Given the description of an element on the screen output the (x, y) to click on. 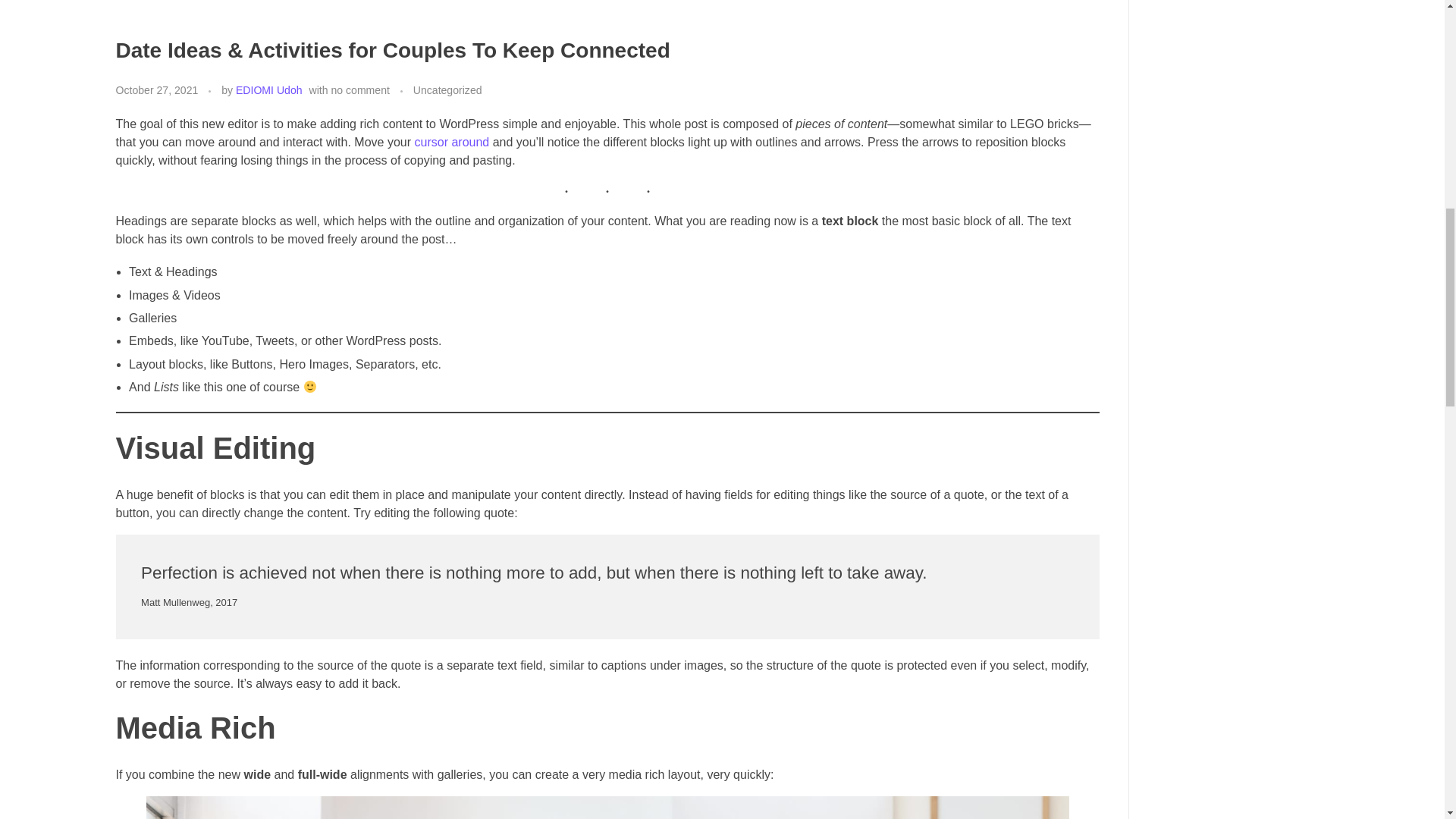
View all posts by EDIOMI Udoh (268, 90)
View all posts in Uncategorized (447, 90)
EDIOMI Udoh (268, 90)
cursor around (451, 141)
Uncategorized (447, 90)
